Given the description of an element on the screen output the (x, y) to click on. 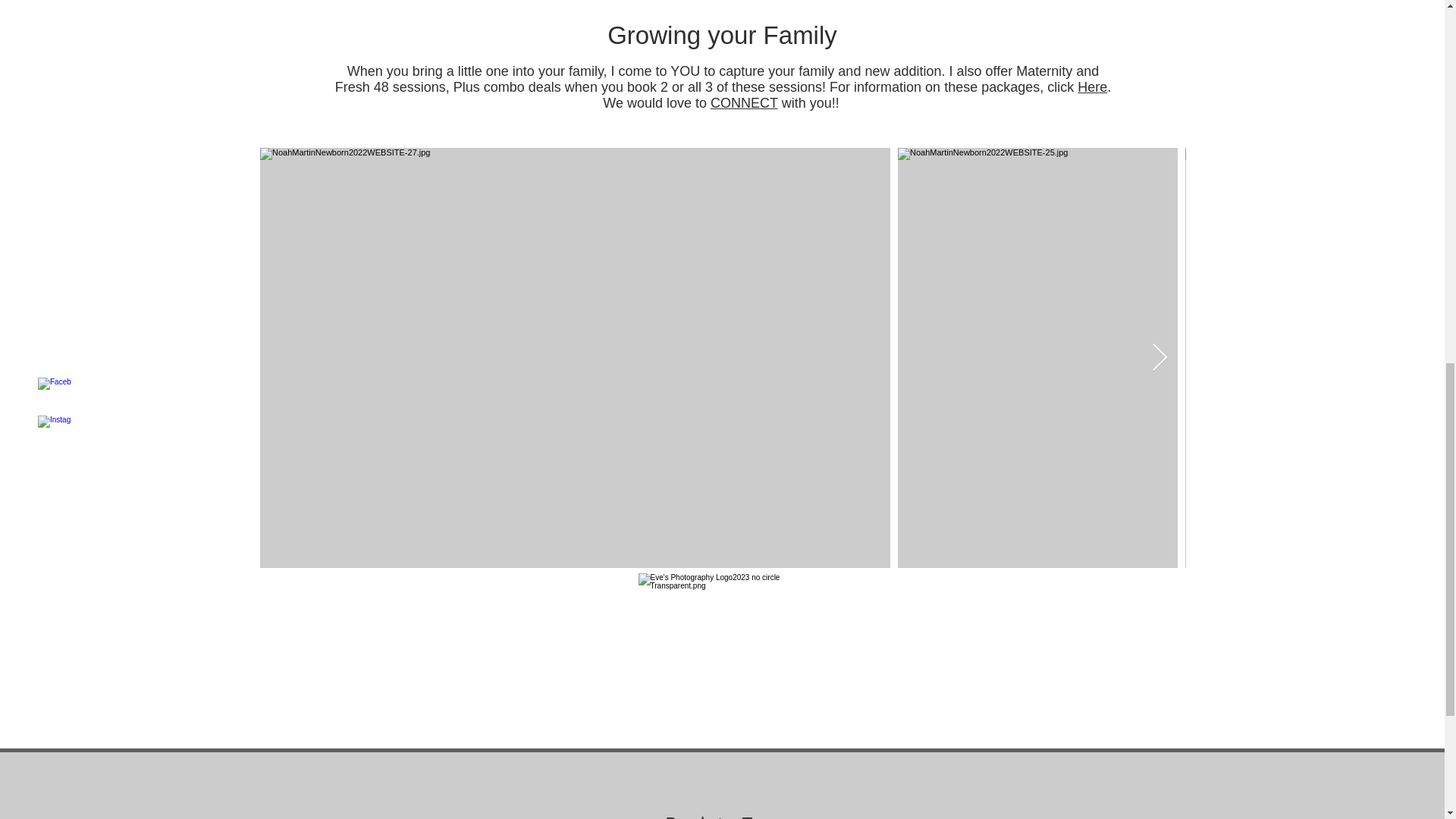
Here (1091, 87)
CONNECT (743, 102)
Back to Top (719, 816)
